Given the description of an element on the screen output the (x, y) to click on. 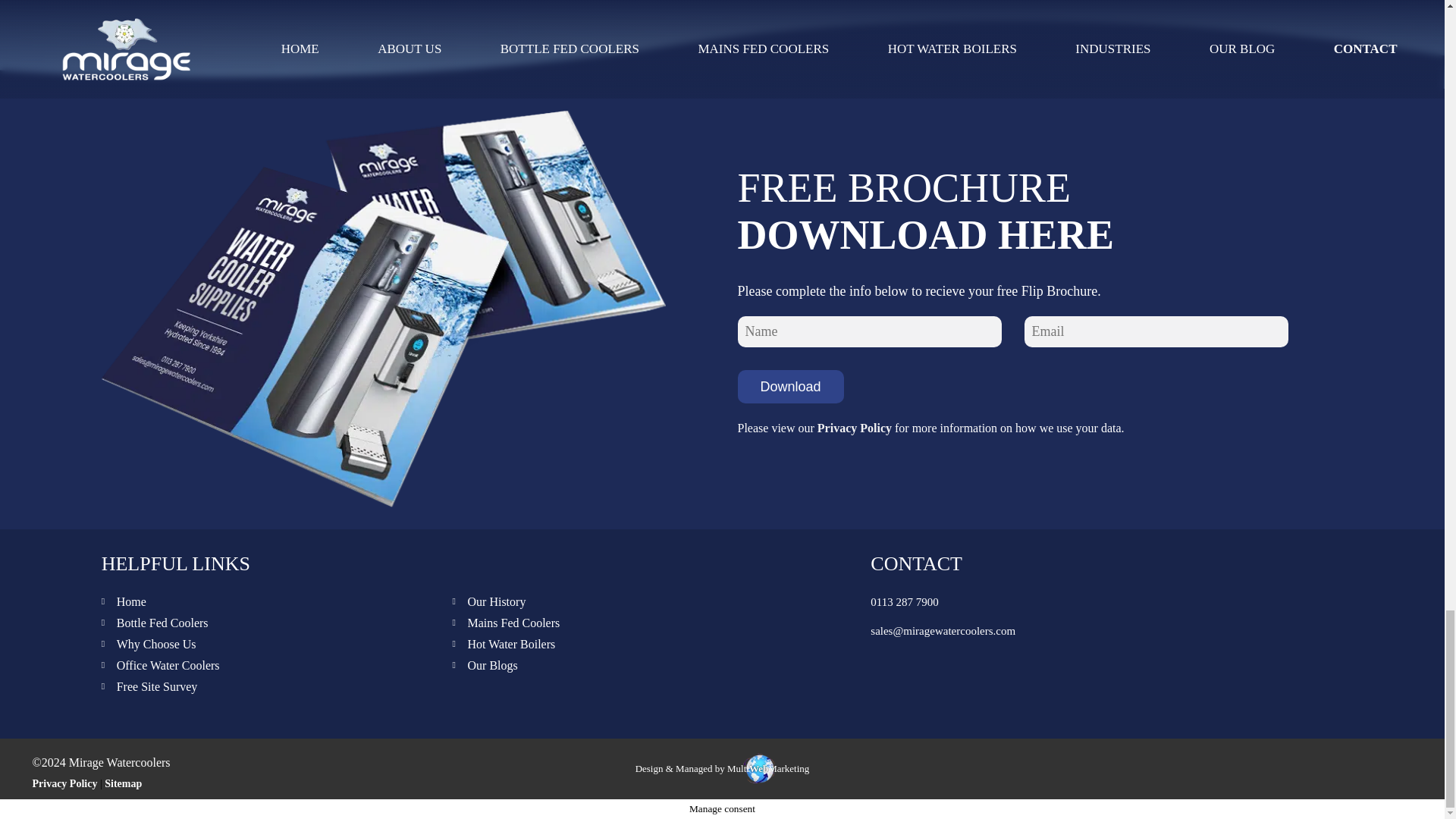
Download (789, 386)
Privacy Policy (853, 427)
Download (789, 386)
Send (716, 557)
Send (716, 572)
